Given the description of an element on the screen output the (x, y) to click on. 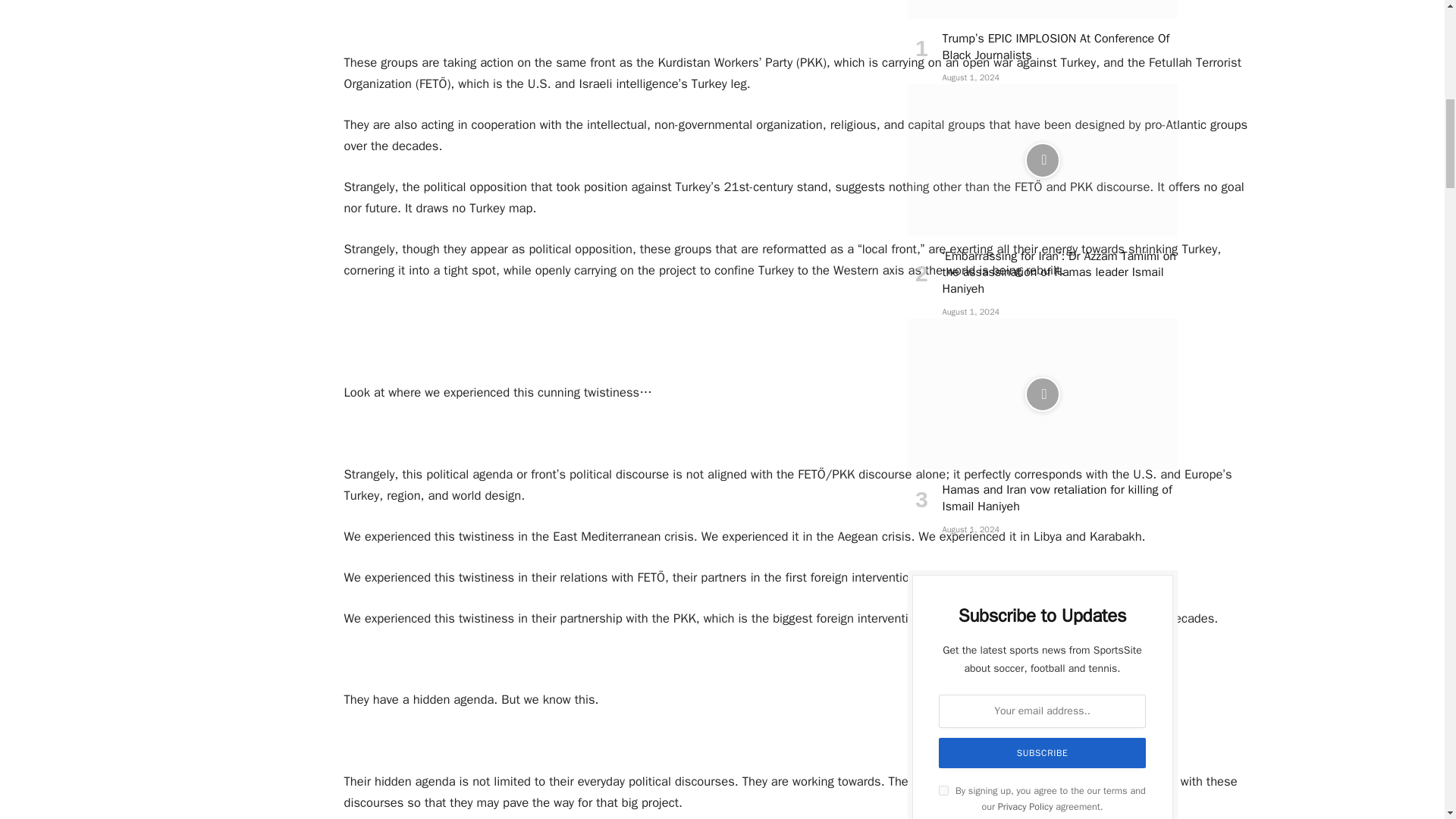
Subscribe (1043, 752)
on (944, 790)
